Given the description of an element on the screen output the (x, y) to click on. 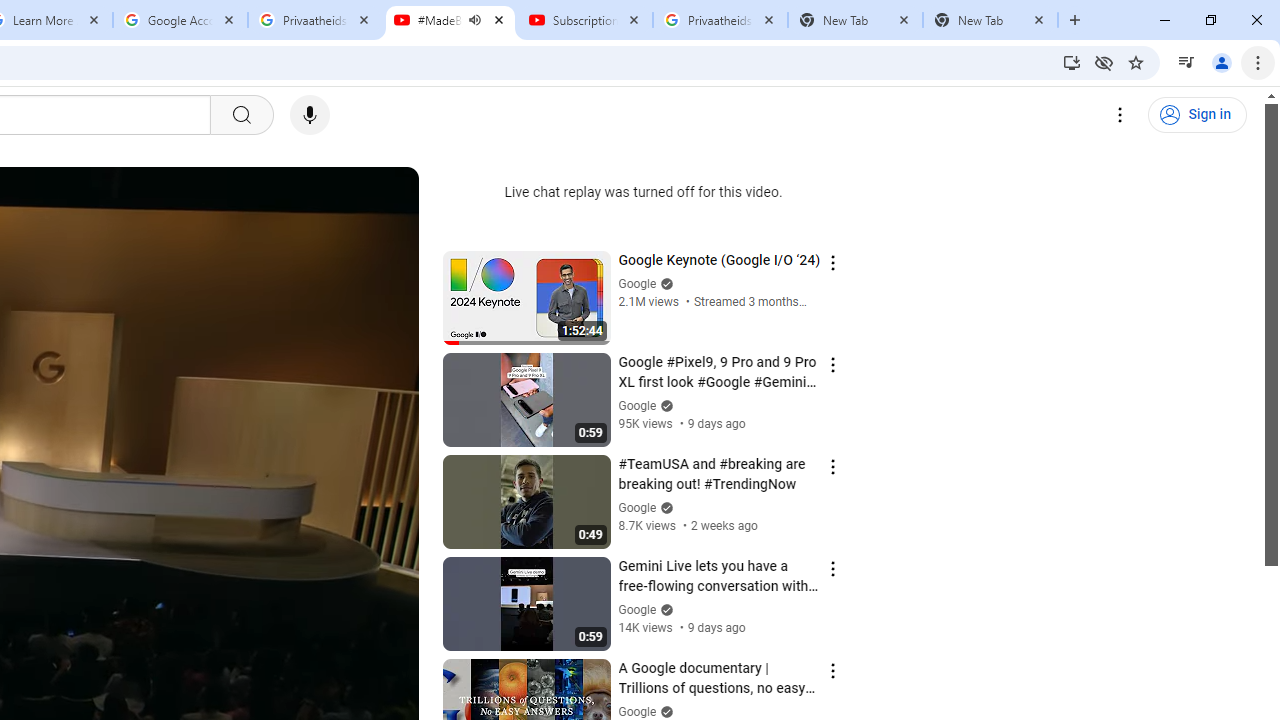
Control your music, videos, and more (1185, 62)
Mute tab (474, 20)
New Tab (990, 20)
Sign in (1197, 115)
Search with your voice (309, 115)
Google Account (180, 20)
